Given the description of an element on the screen output the (x, y) to click on. 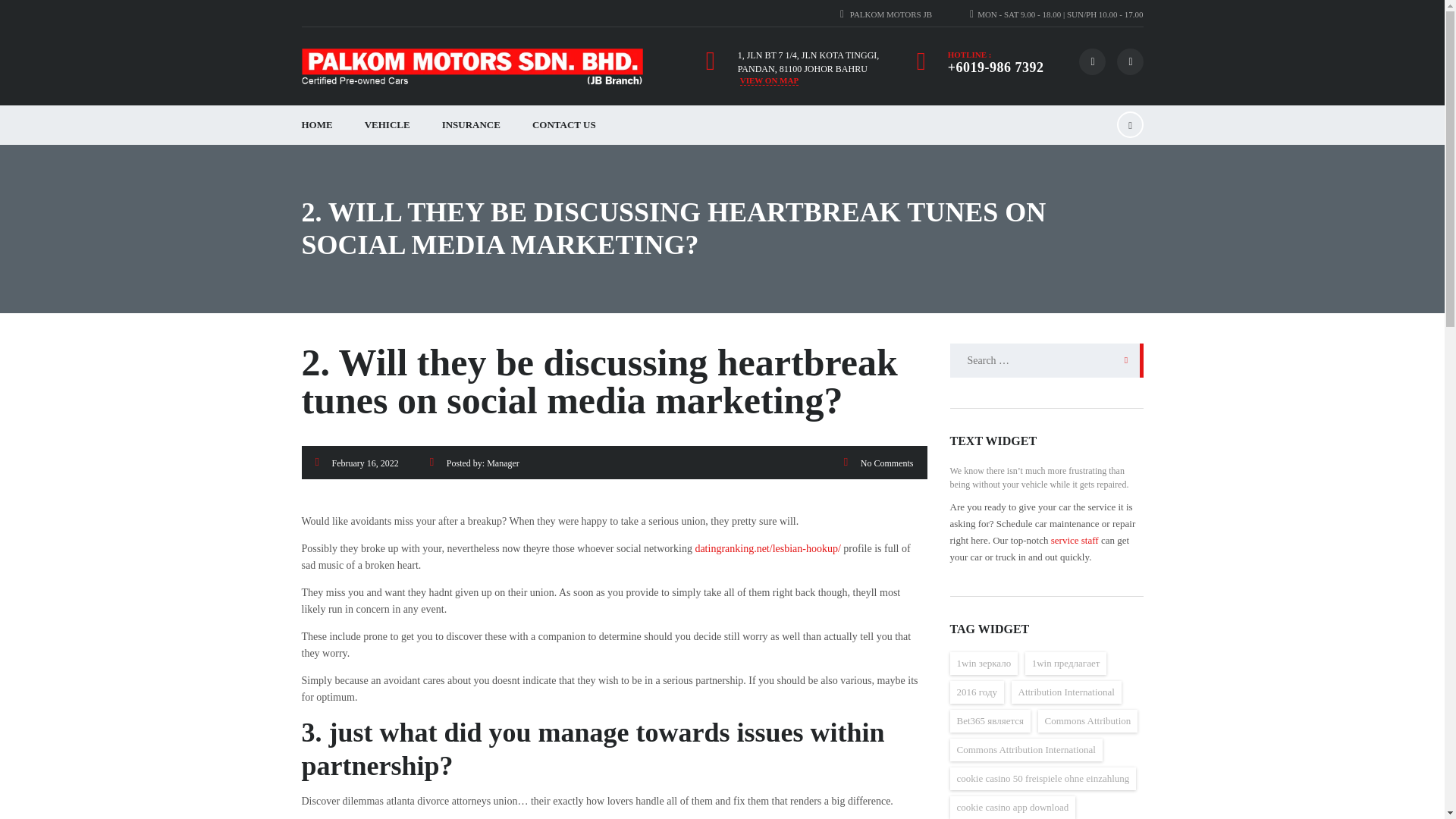
Commons Attribution (1088, 721)
cookie casino app download (1012, 807)
VEHICLE (387, 124)
Search (1121, 360)
Home (472, 66)
Attribution International (1066, 691)
Commons Attribution International (1025, 749)
HOME (316, 124)
cookie casino 50 freispiele ohne einzahlung (1042, 778)
service staff (1075, 540)
